Given the description of an element on the screen output the (x, y) to click on. 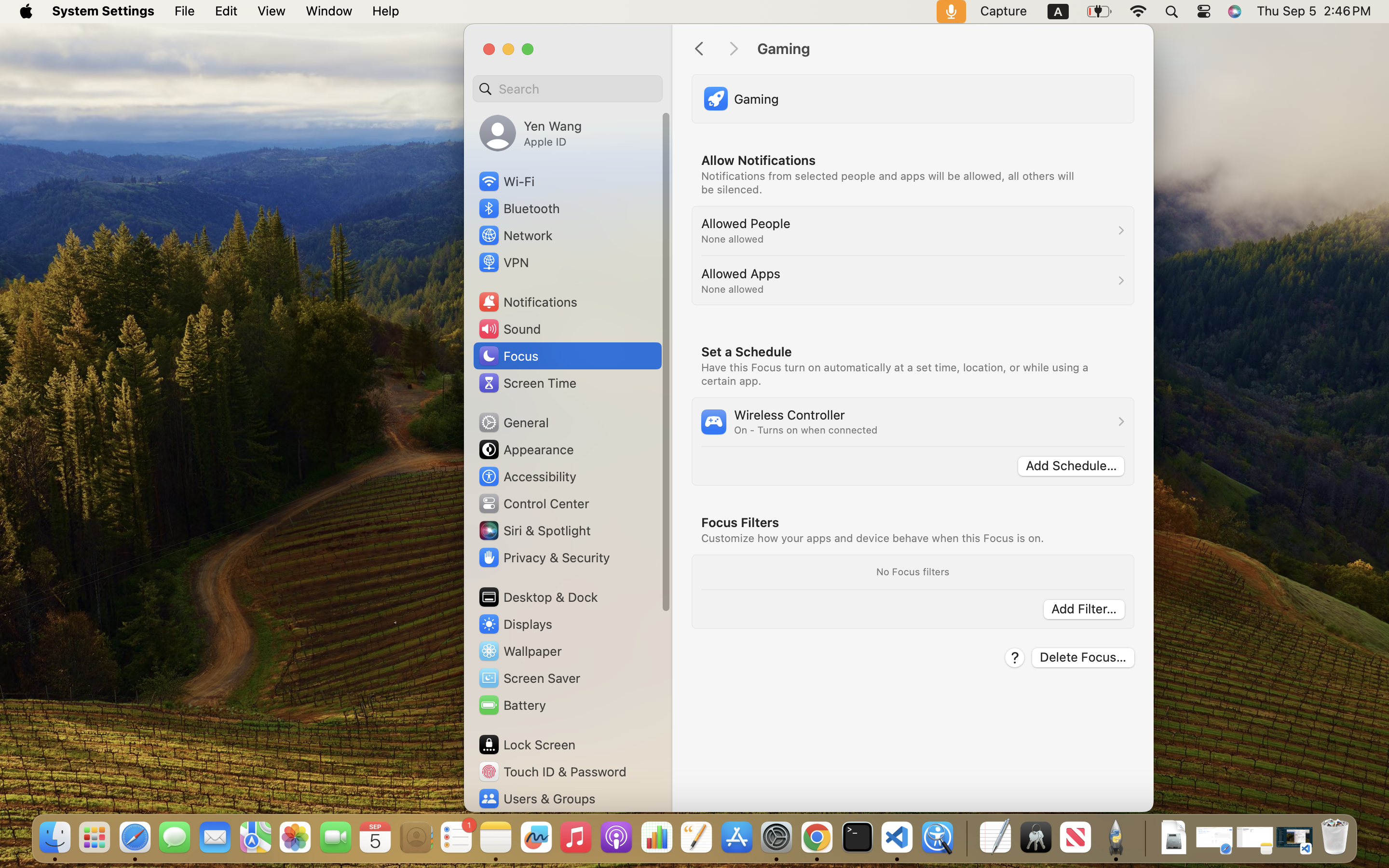
Focus Element type: AXStaticText (507, 355)
Notifications Element type: AXStaticText (527, 301)
Touch ID & Password Element type: AXStaticText (551, 771)
VPN Element type: AXStaticText (502, 261)
Displays Element type: AXStaticText (514, 623)
